Given the description of an element on the screen output the (x, y) to click on. 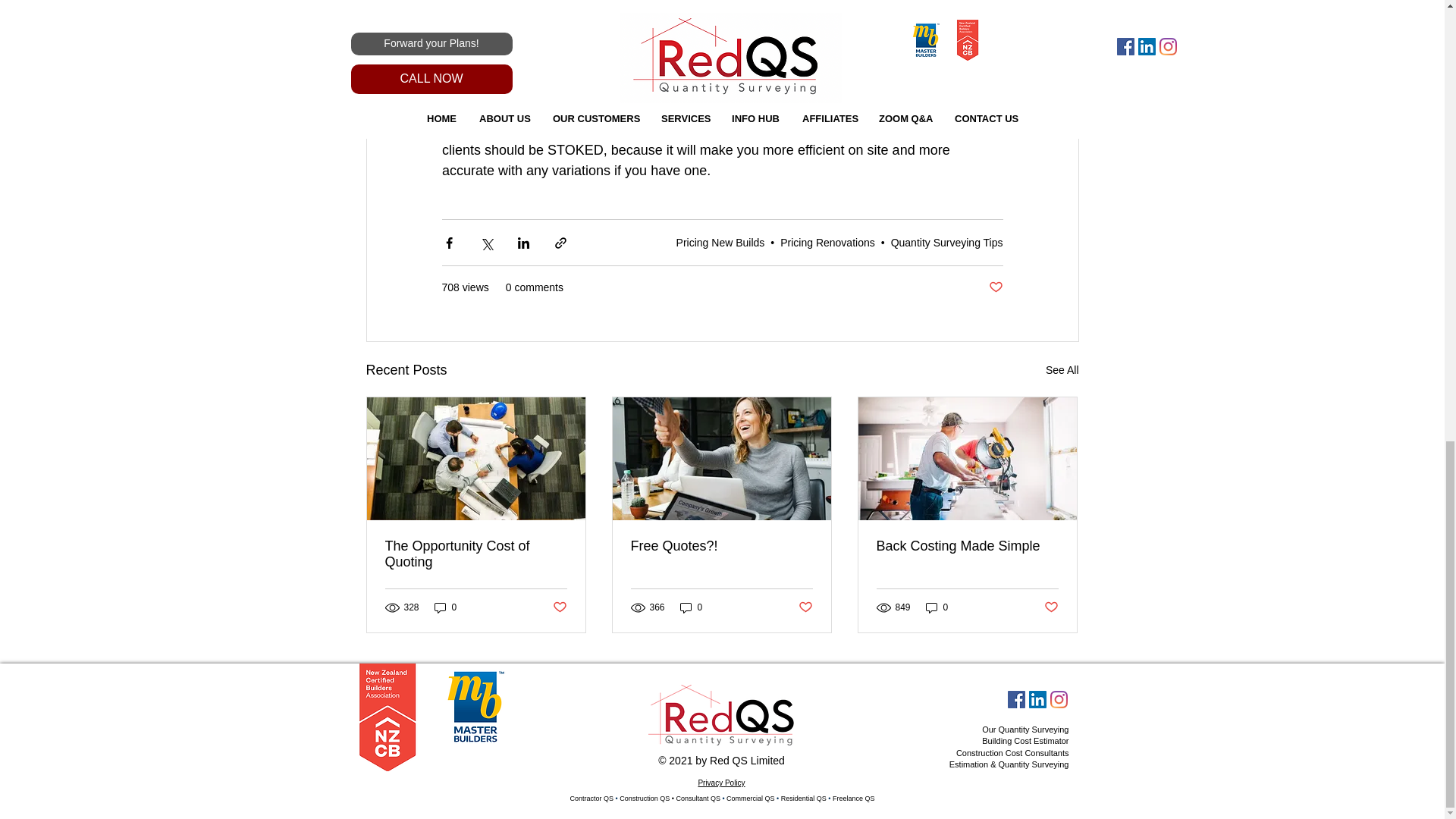
Pricing New Builds (721, 241)
Quantity Surveying Tips (947, 241)
Post not marked as liked (558, 607)
0 (691, 606)
See All (1061, 370)
Post not marked as liked (995, 287)
The Opportunity Cost of Quoting (476, 554)
Free Quotes?! (721, 546)
Pricing Renovations (827, 241)
0 (445, 606)
